Given the description of an element on the screen output the (x, y) to click on. 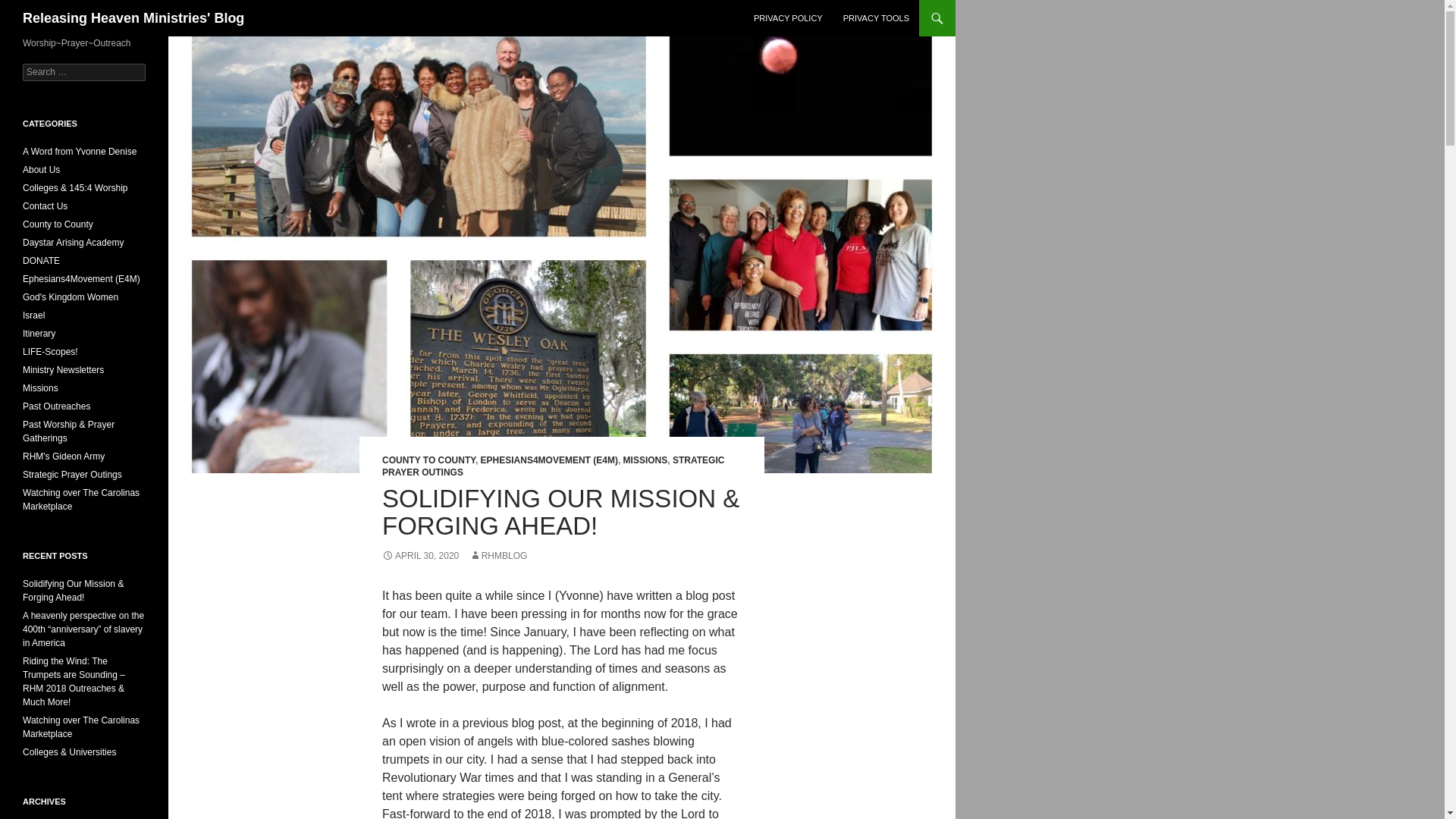
Strategic Prayer Outings (72, 474)
DONATE (41, 260)
Past Outreaches (56, 406)
Contact Us (44, 205)
RHMBLOG (497, 555)
STRATEGIC PRAYER OUTINGS (552, 466)
A Word from Yvonne Denise (79, 151)
PRIVACY TOOLS (876, 18)
County to County (58, 224)
Daystar Arising Academy (73, 242)
